Given the description of an element on the screen output the (x, y) to click on. 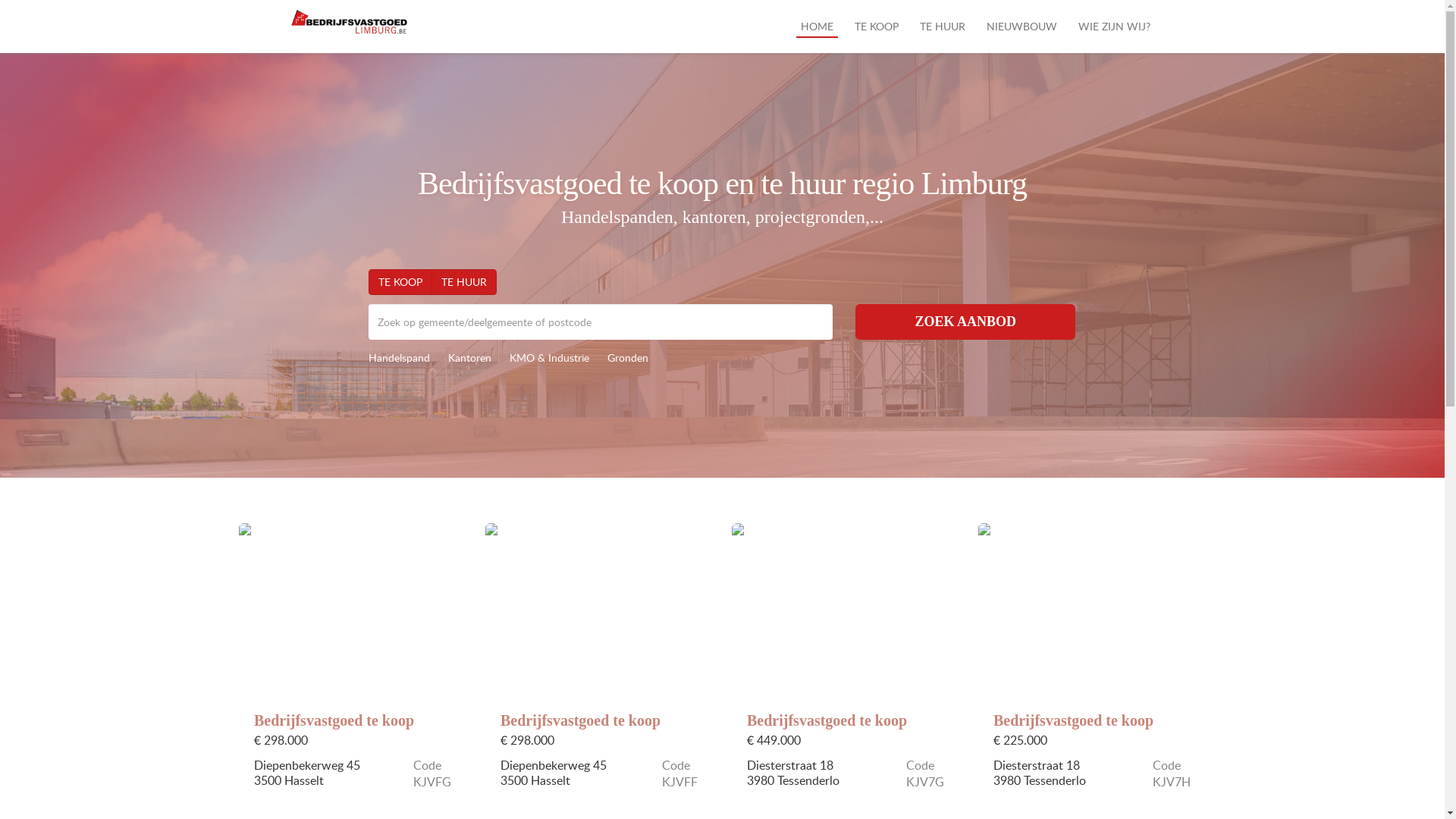
NIEUWBOUW Element type: text (1020, 26)
HOME Element type: text (816, 26)
ZOEK AANBOD Element type: text (965, 321)
TE HUUR Element type: text (941, 26)
WIE ZIJN WIJ? Element type: text (1113, 26)
TE KOOP Element type: text (875, 26)
